Given the description of an element on the screen output the (x, y) to click on. 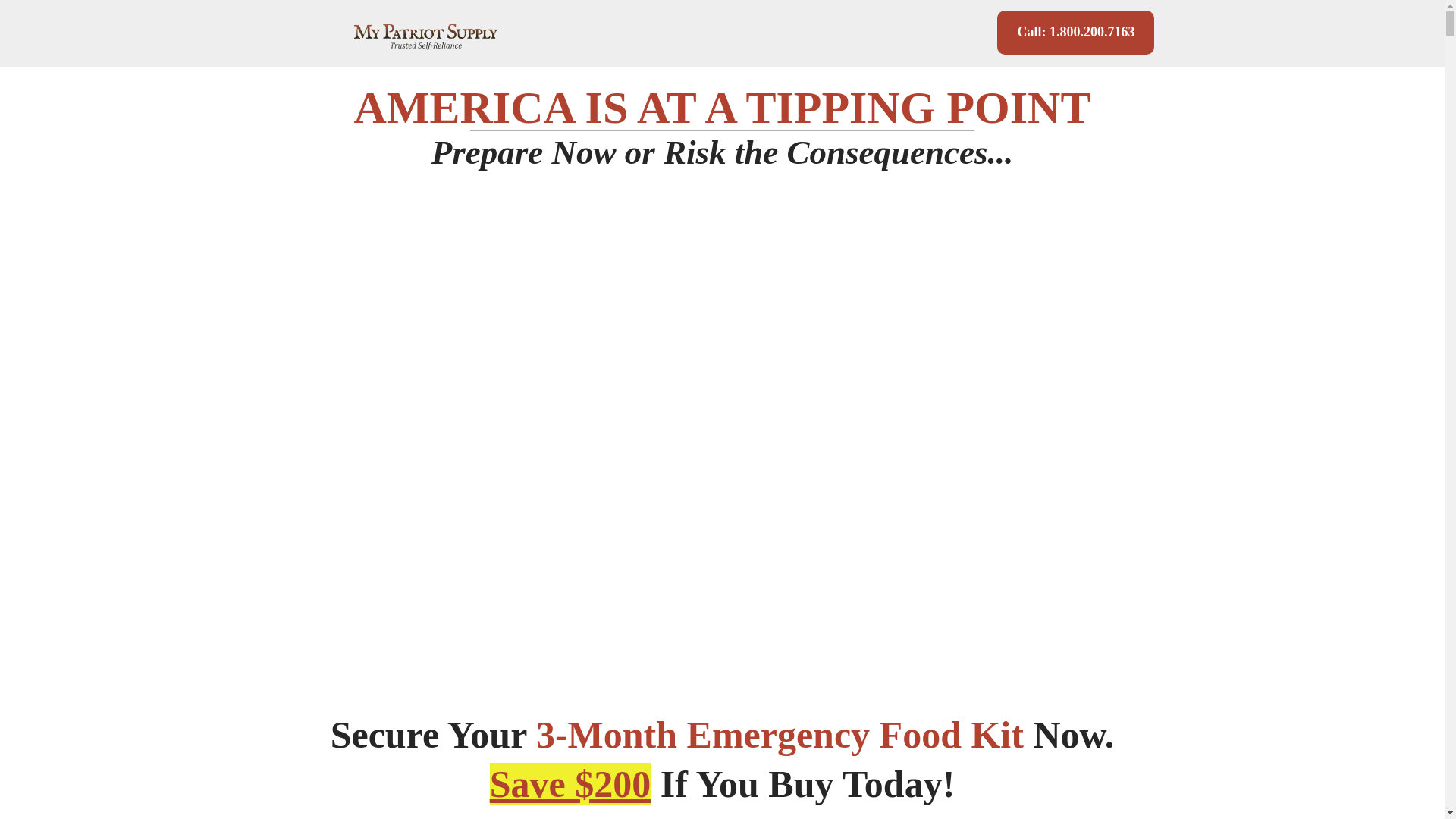
Call: 1.800.200.7163 (1075, 32)
